Given the description of an element on the screen output the (x, y) to click on. 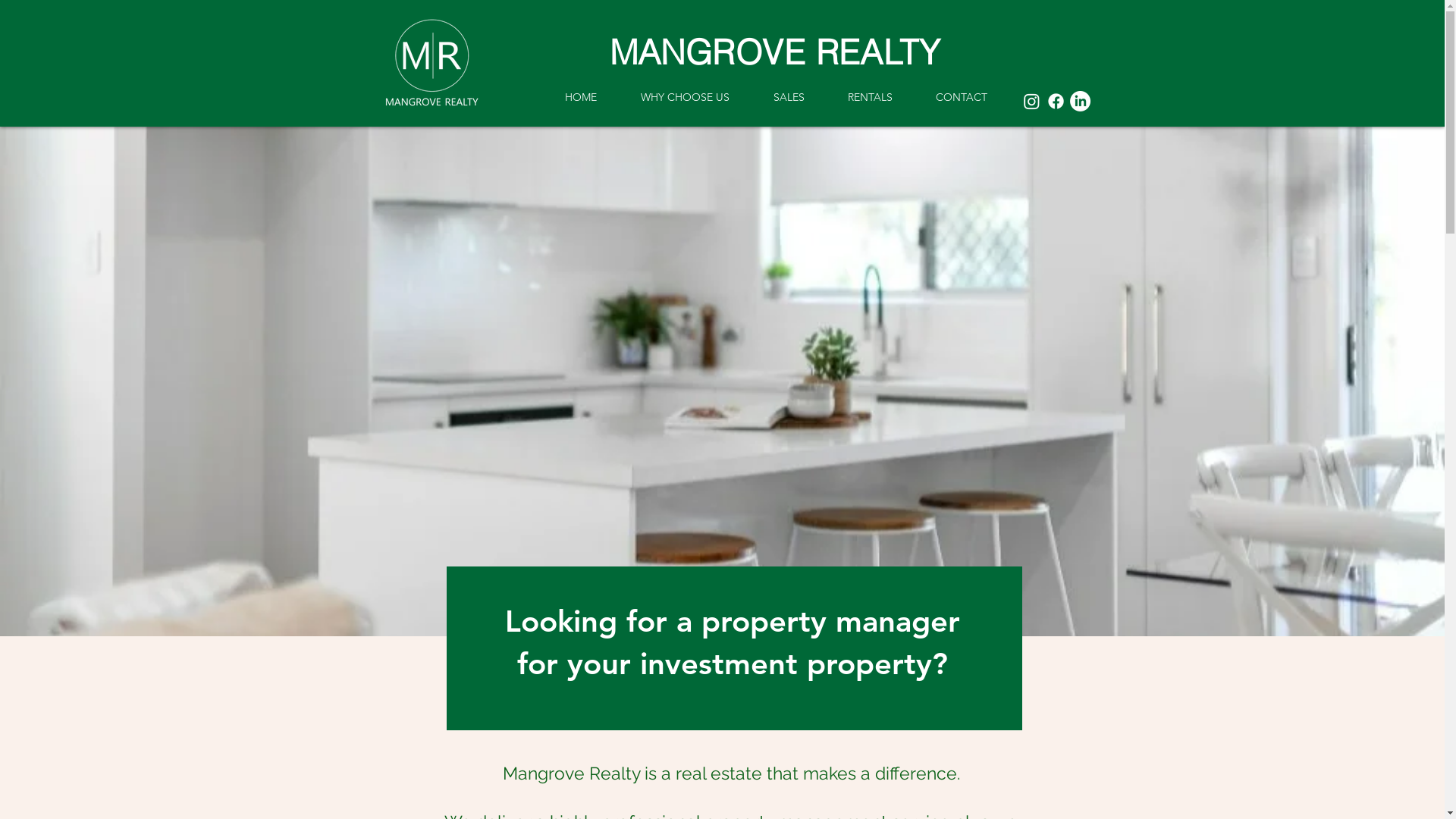
SALES Element type: text (787, 96)
HOME Element type: text (580, 96)
CONTACT Element type: text (961, 96)
RENTALS Element type: text (870, 96)
WHY CHOOSE US Element type: text (684, 96)
